Given the description of an element on the screen output the (x, y) to click on. 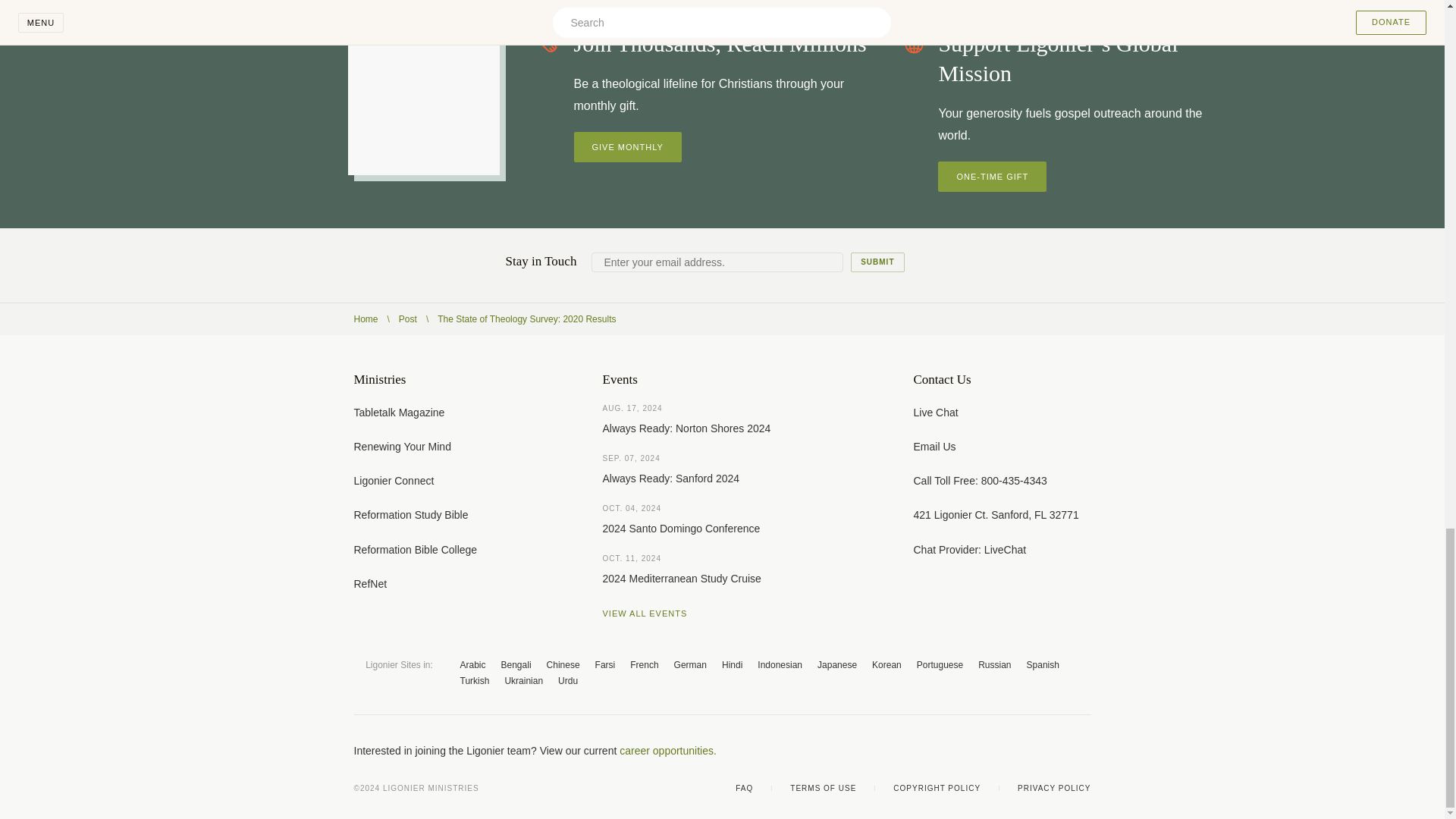
X (993, 751)
Facebook (962, 751)
Instagram (1053, 751)
YouTube (1023, 751)
Linkedin (1083, 751)
